Given the description of an element on the screen output the (x, y) to click on. 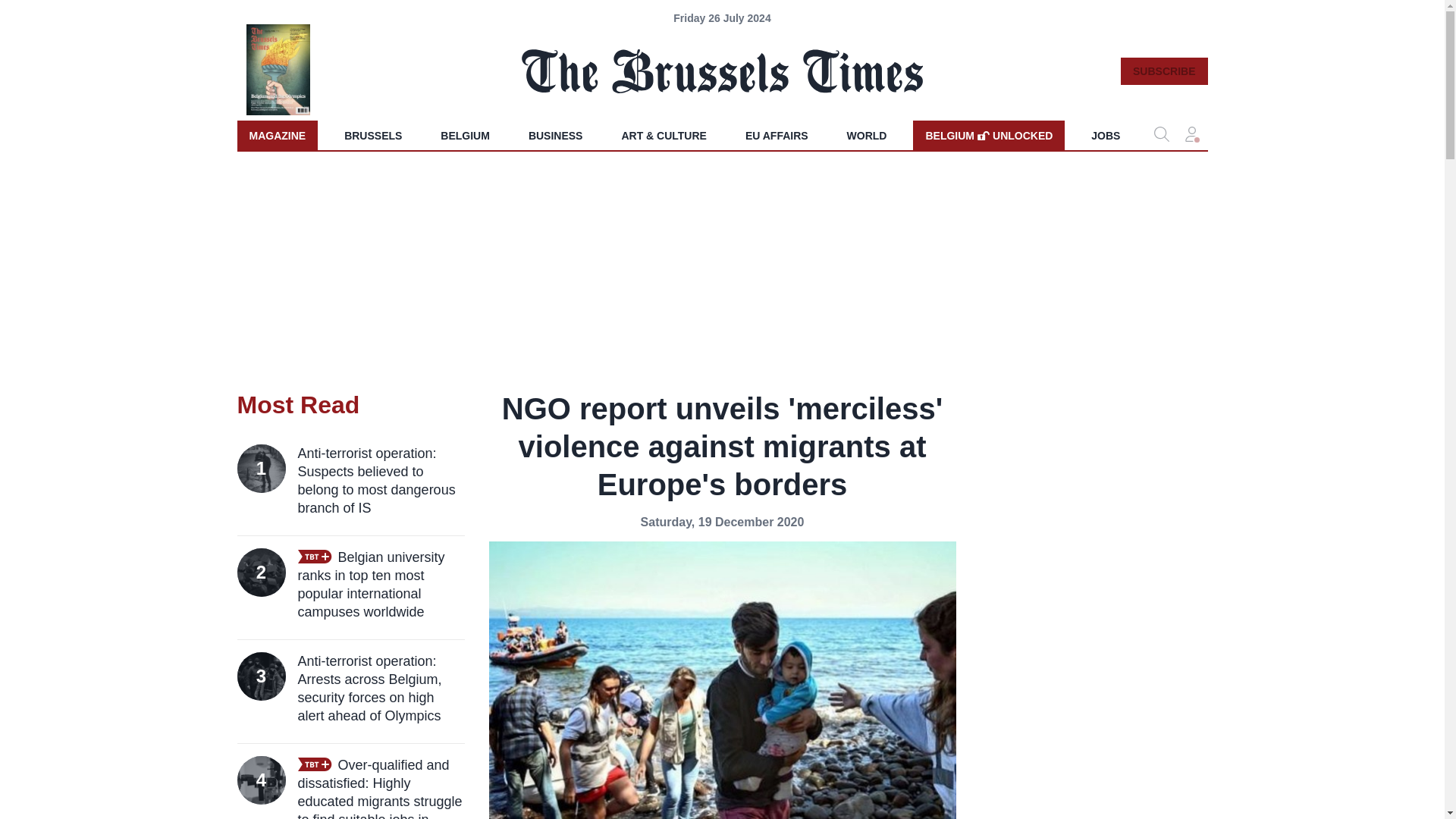
WORLD (866, 135)
SUBSCRIBE (1164, 71)
EU AFFAIRS (777, 135)
BRUSSELS (372, 135)
JOBS (1105, 135)
BUSINESS (555, 135)
BELGIUM (465, 135)
MAGAZINE (988, 135)
